Given the description of an element on the screen output the (x, y) to click on. 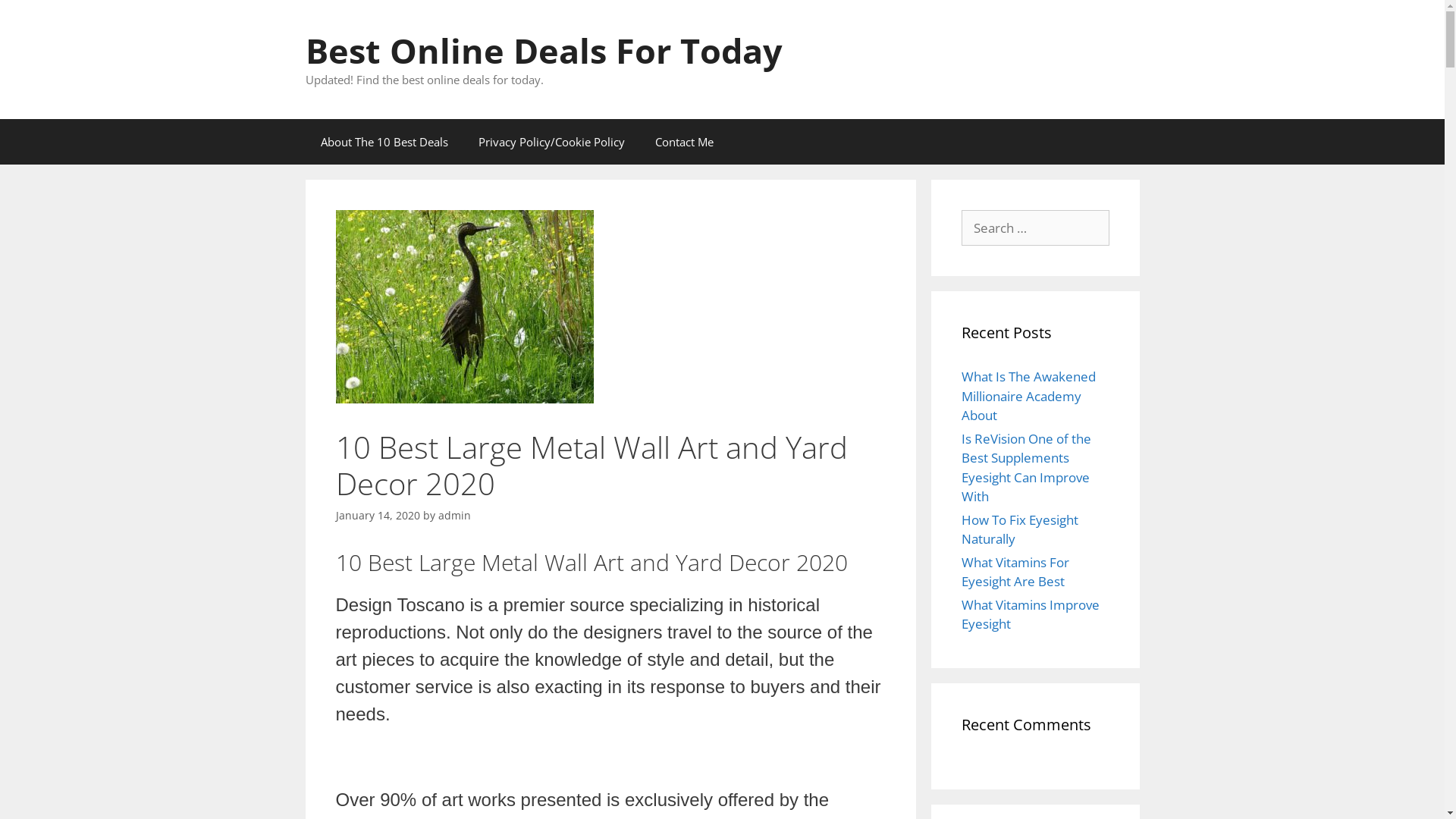
admin Element type: text (454, 515)
About The 10 Best Deals Element type: text (383, 140)
Search for: Element type: hover (1035, 227)
What Vitamins Improve Eyesight Element type: text (1030, 614)
What Vitamins For Eyesight Are Best Element type: text (1015, 571)
Search Element type: text (36, 18)
Contact Me Element type: text (684, 140)
Best Online Deals For Today Element type: text (542, 50)
What Is The Awakened Millionaire Academy About Element type: text (1028, 395)
How To Fix Eyesight Naturally Element type: text (1019, 529)
Privacy Policy/Cookie Policy Element type: text (550, 140)
